Given the description of an element on the screen output the (x, y) to click on. 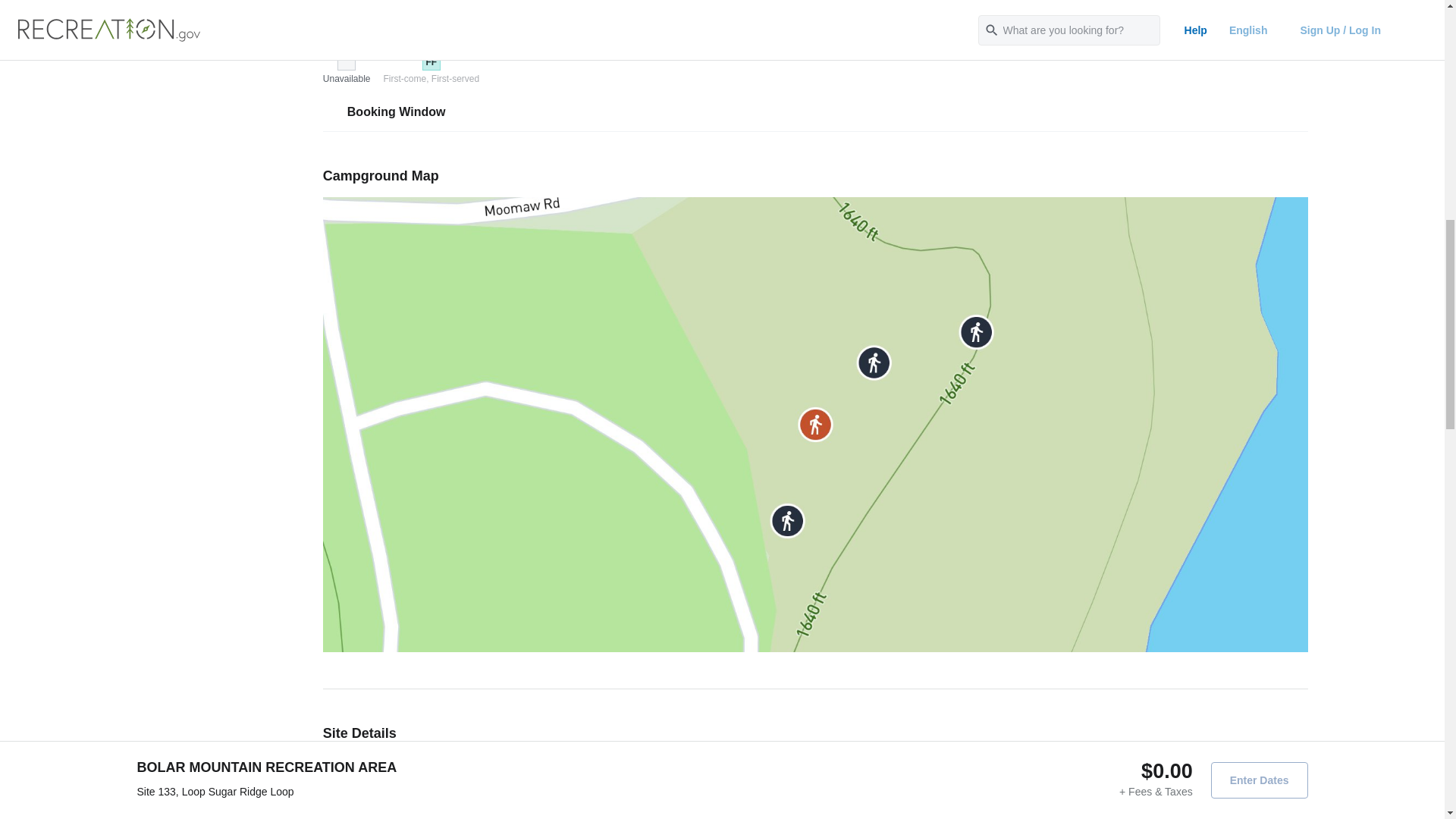
First-come, First-served (431, 78)
Need to Know (220, 2)
Booking Window (812, 111)
